Given the description of an element on the screen output the (x, y) to click on. 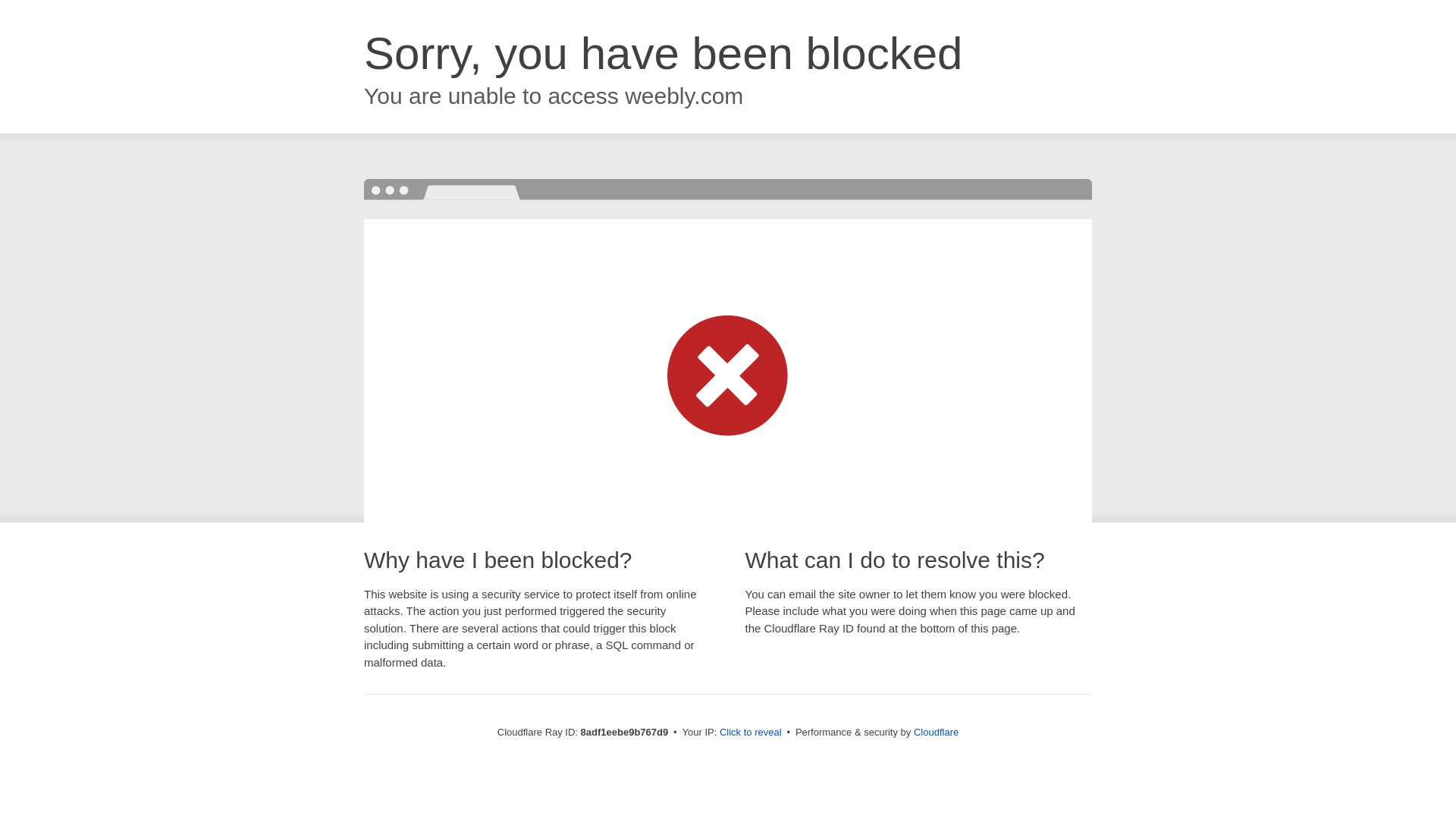
Click to reveal (750, 732)
Cloudflare (936, 731)
